Given the description of an element on the screen output the (x, y) to click on. 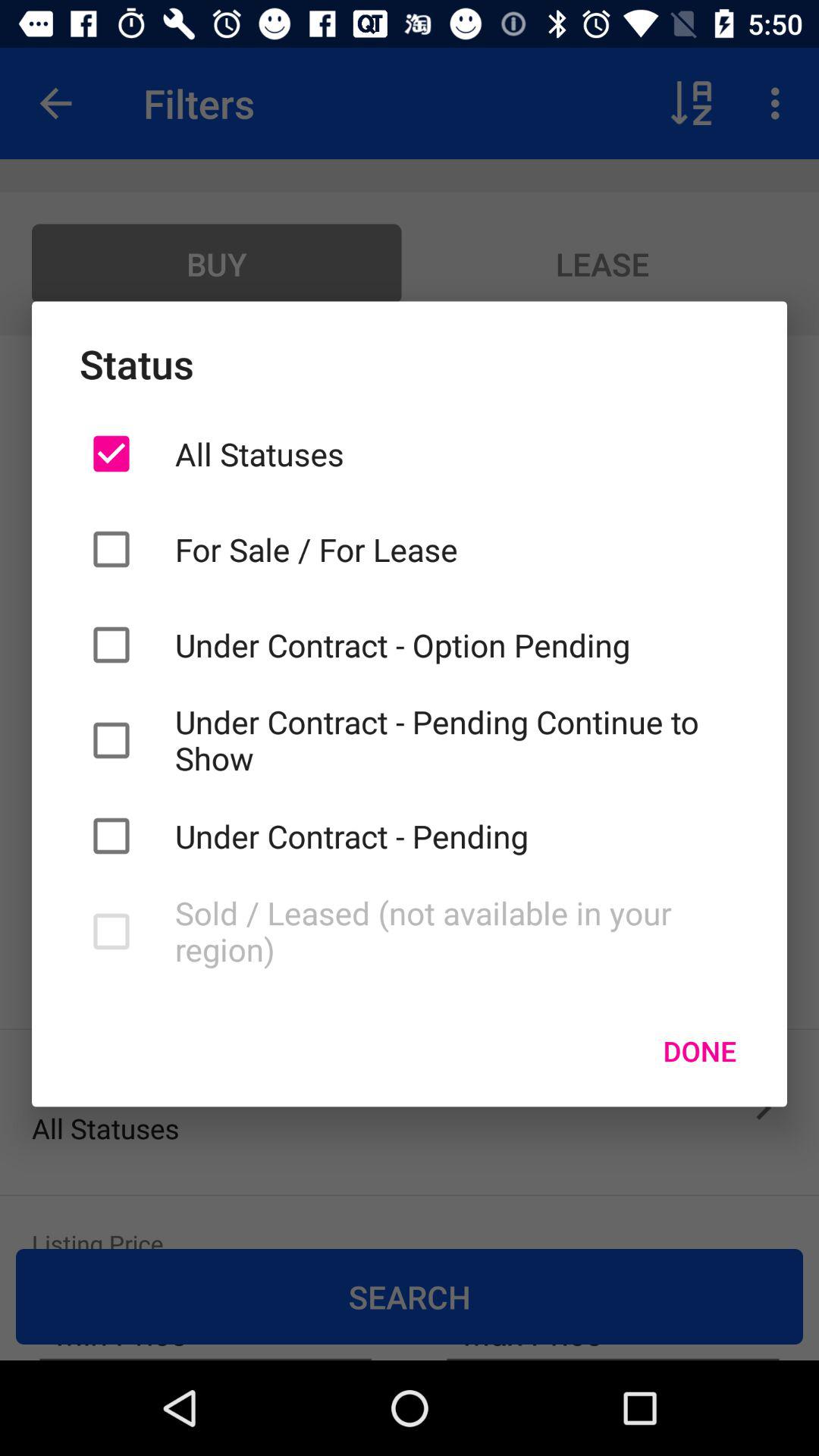
launch the done item (699, 1050)
